Given the description of an element on the screen output the (x, y) to click on. 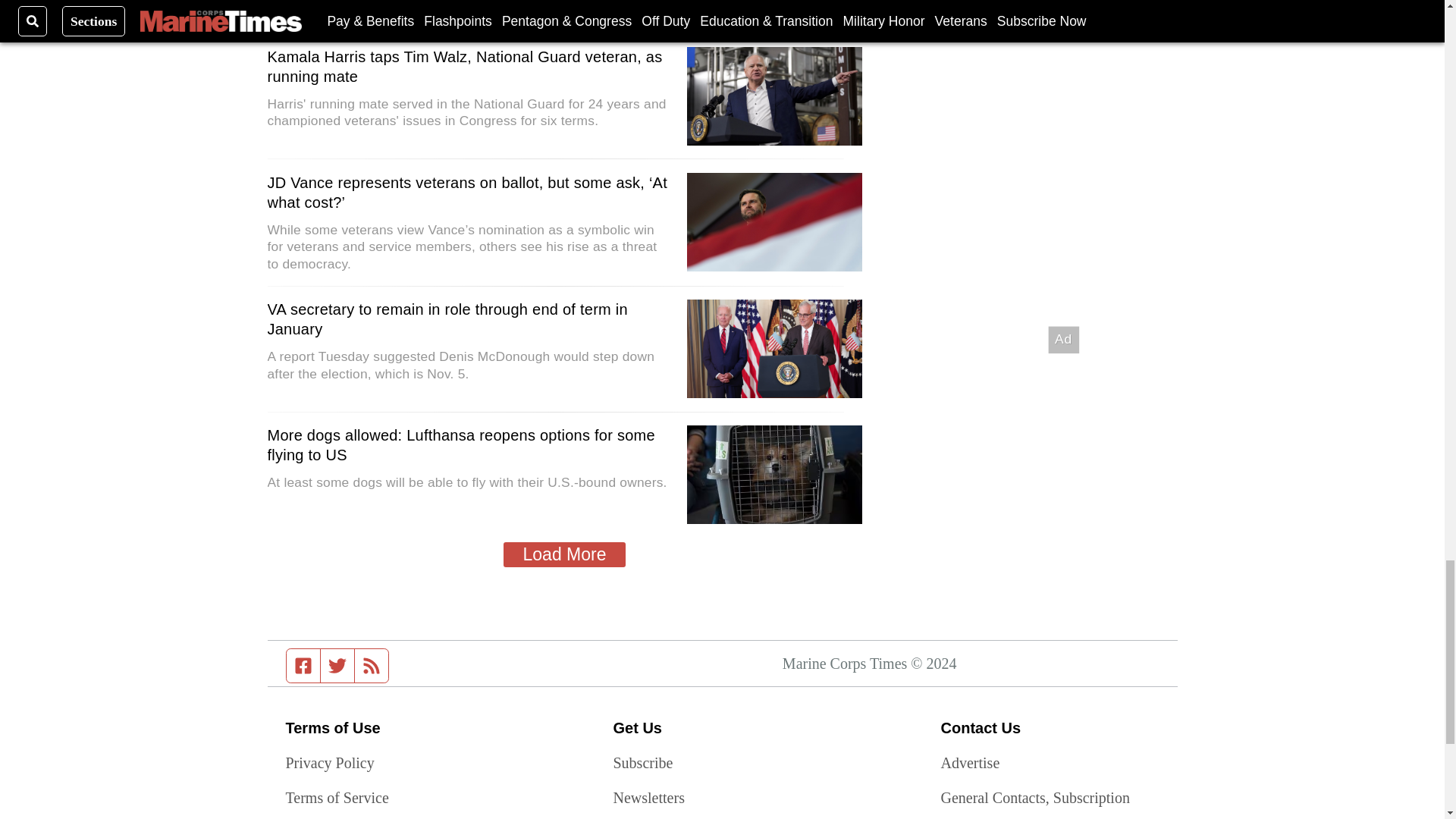
Facebook page (303, 665)
Twitter feed (336, 665)
RSS feed (371, 665)
